Given the description of an element on the screen output the (x, y) to click on. 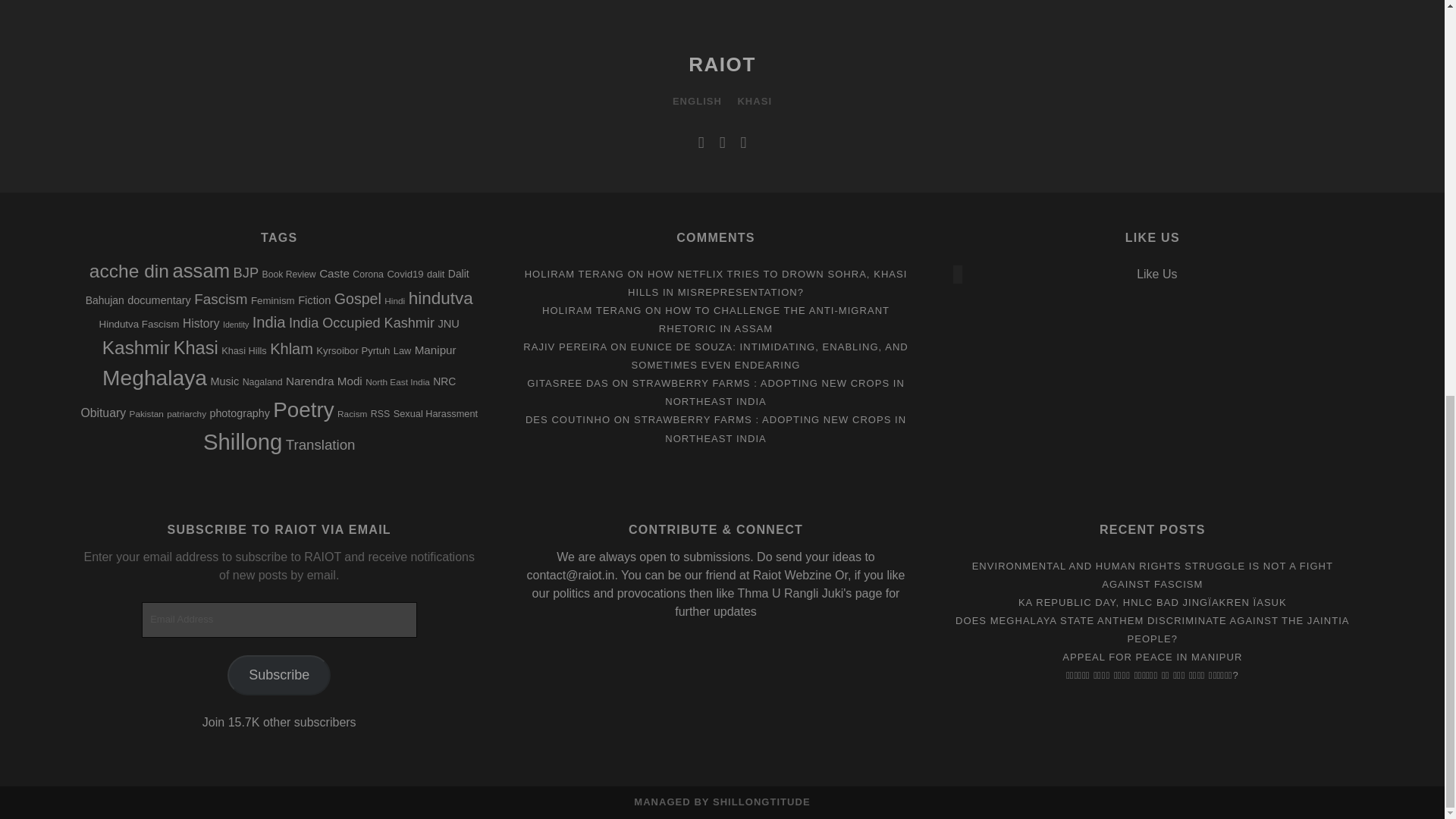
KHASI (753, 101)
ENGLISH (697, 101)
RAIOT (721, 64)
